Given the description of an element on the screen output the (x, y) to click on. 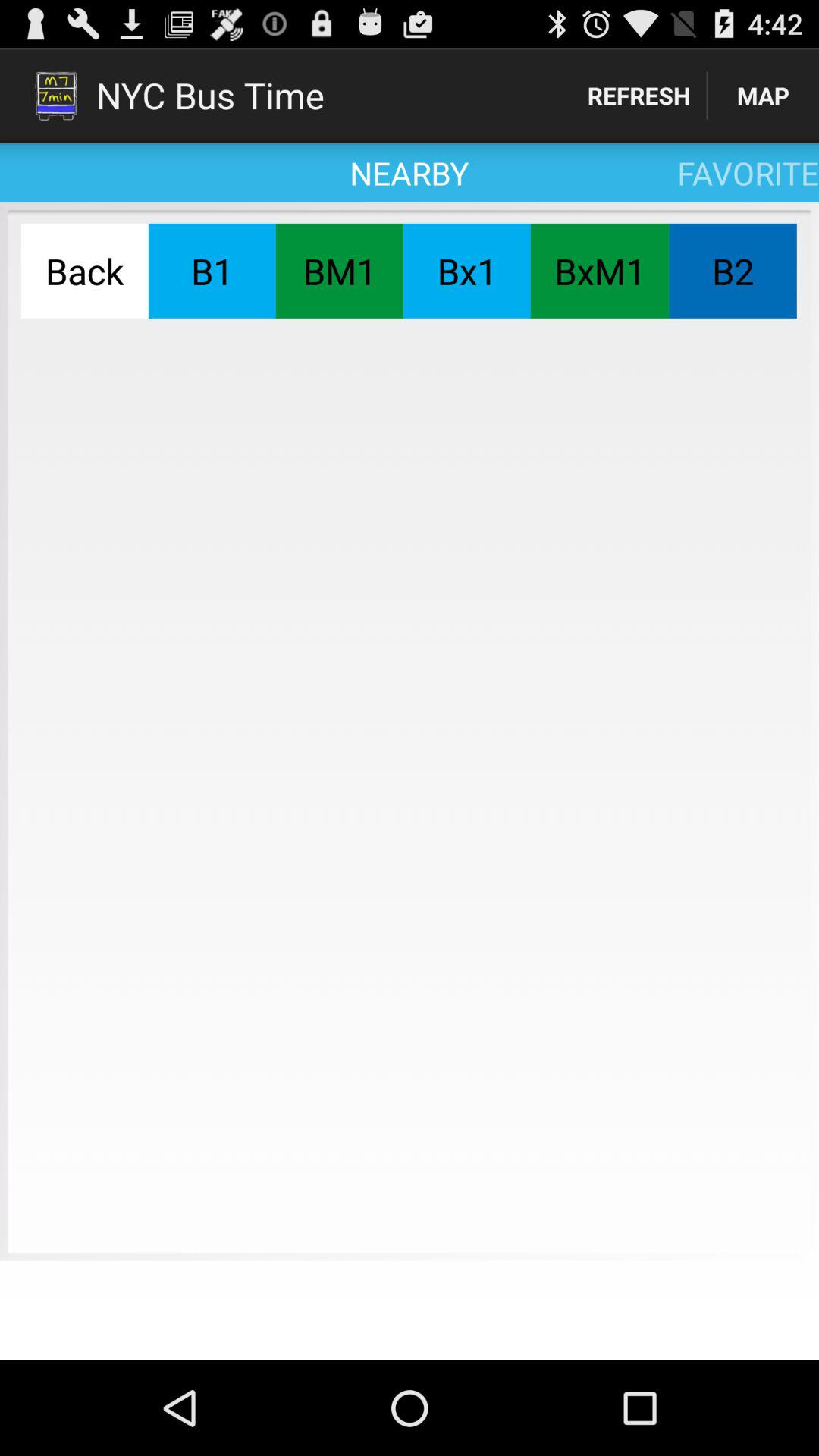
select button next to bm1 item (211, 271)
